Given the description of an element on the screen output the (x, y) to click on. 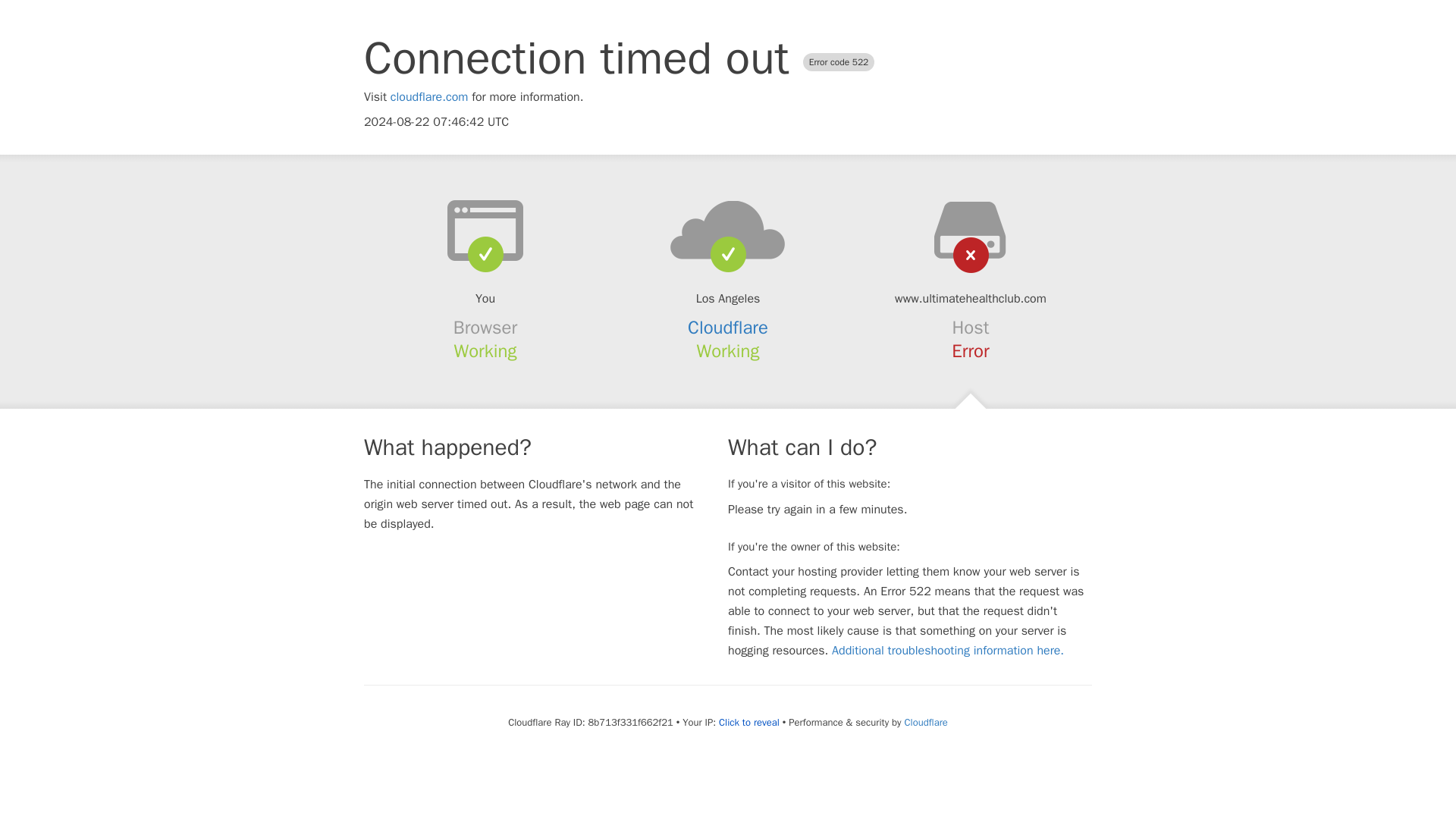
Additional troubleshooting information here. (947, 650)
cloudflare.com (429, 96)
Cloudflare (727, 327)
Click to reveal (748, 722)
Cloudflare (925, 721)
